Given the description of an element on the screen output the (x, y) to click on. 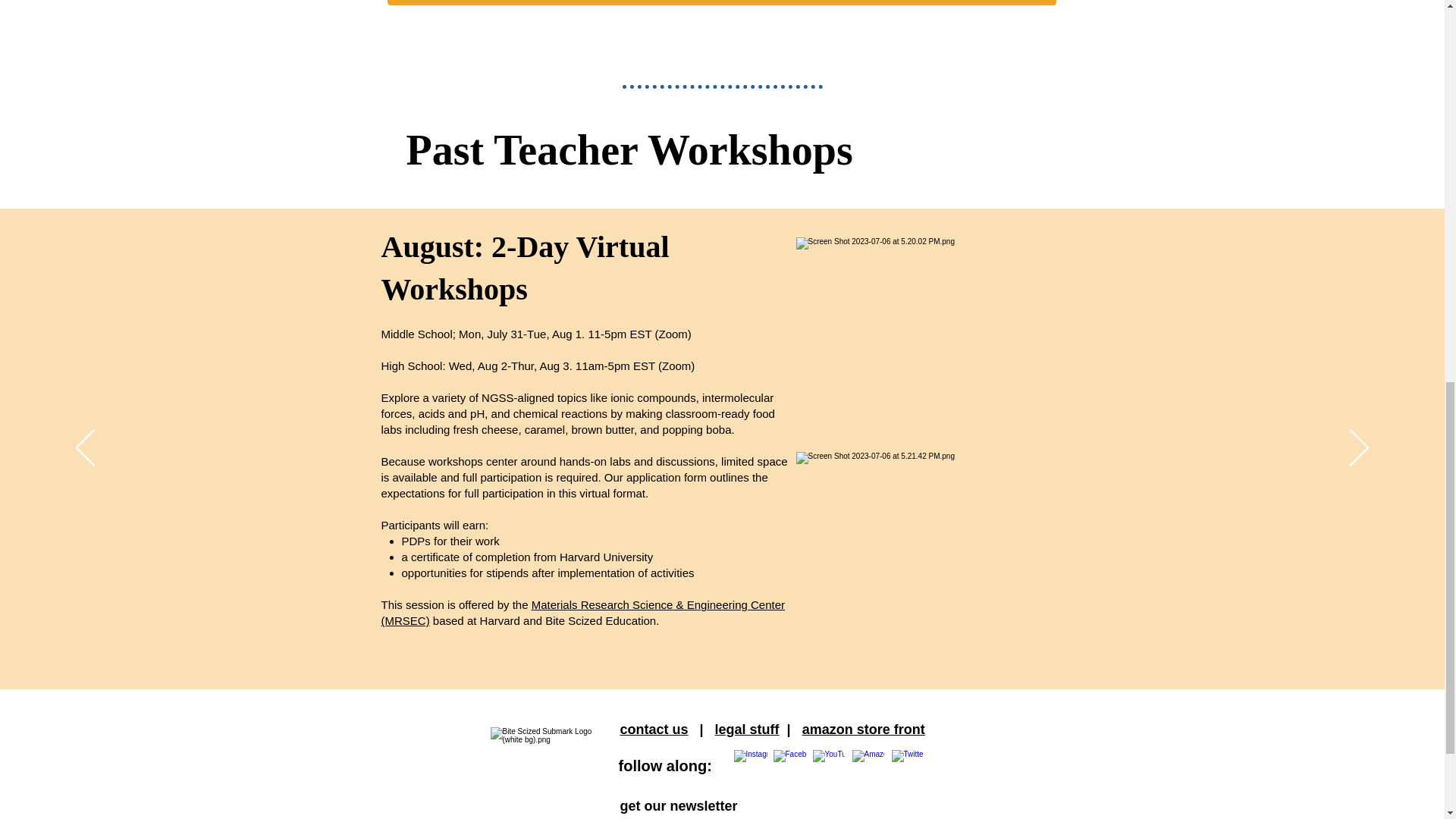
legal stuff (746, 729)
amazon store front (863, 729)
contact us (654, 729)
